Given the description of an element on the screen output the (x, y) to click on. 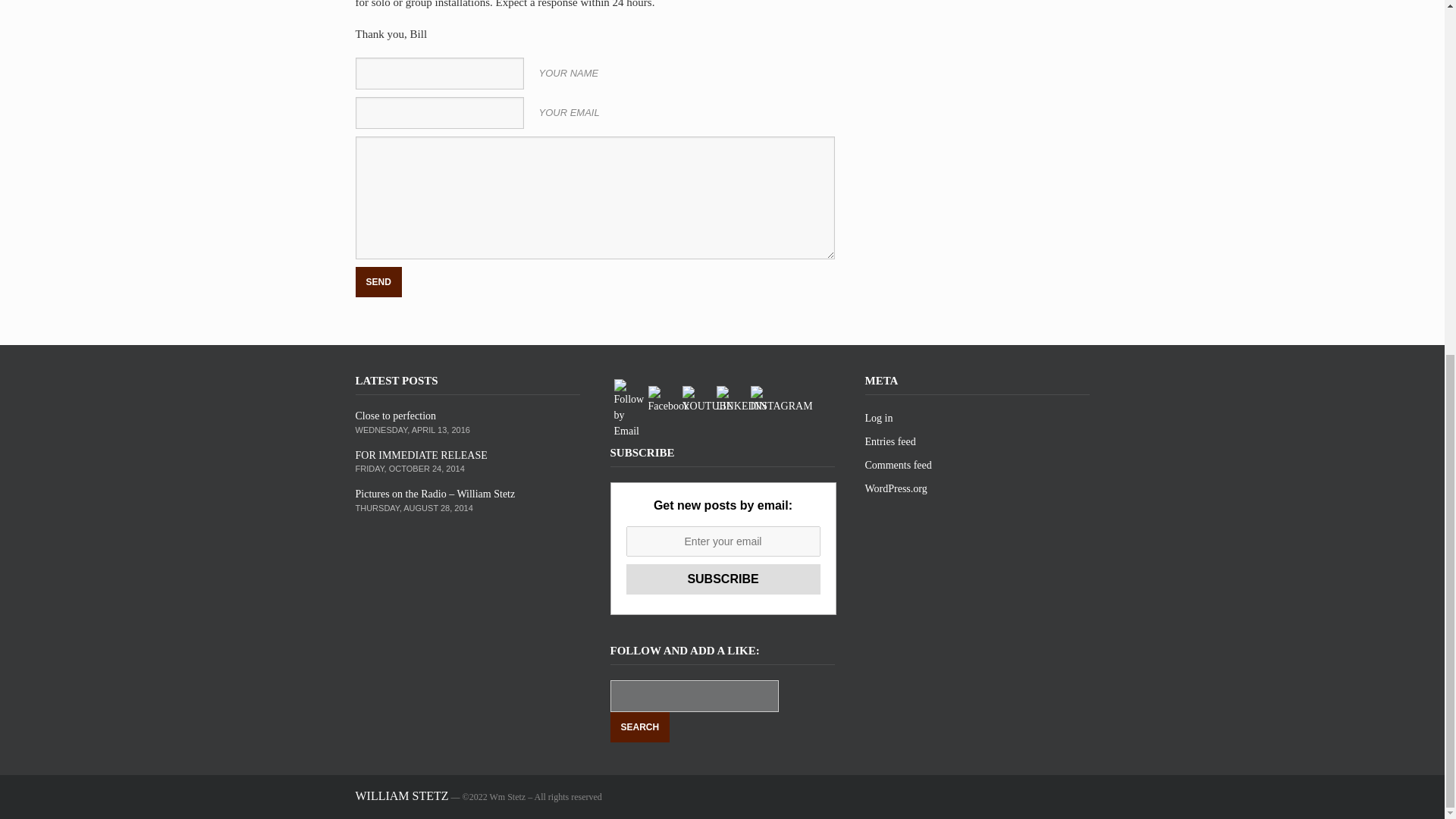
YOUTUBE (707, 399)
Subscribe (723, 579)
LINKEDIN (741, 399)
Facebook (667, 399)
Send (378, 281)
Search (639, 726)
Search (639, 726)
Send (378, 281)
INSTAGRAM (781, 399)
Close to perfection (395, 415)
WILLIAM STETZ (401, 795)
FOR IMMEDIATE RELEASE (420, 455)
Subscribe (723, 579)
